Given the description of an element on the screen output the (x, y) to click on. 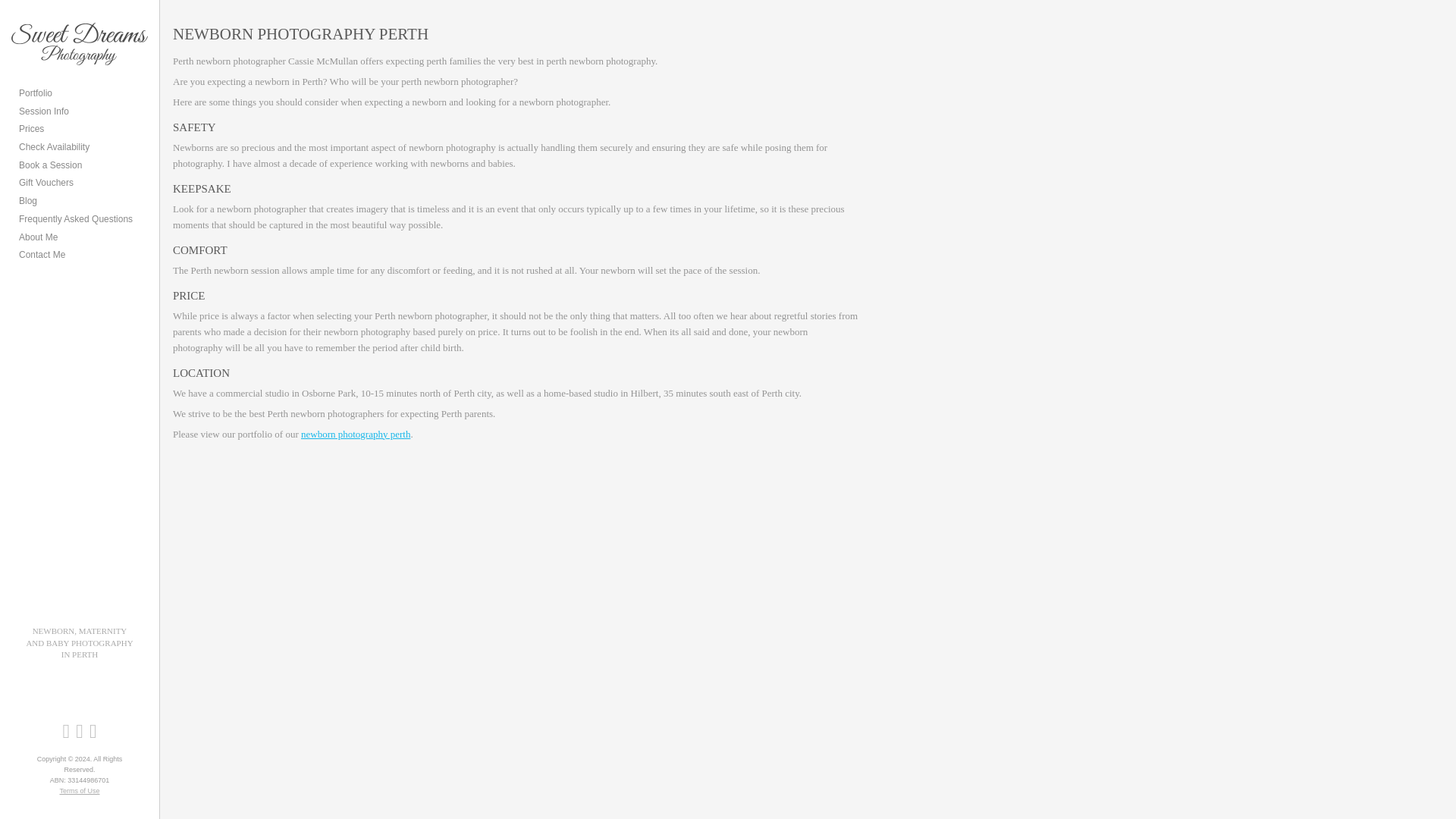
About Me (38, 237)
Frequently Asked Questions (75, 219)
Blog (27, 201)
Book a Session (49, 165)
Prices (30, 129)
Home (355, 433)
Contact Me (41, 255)
newborn photography perth (355, 433)
Session Info (43, 111)
Portfolio (35, 93)
Check Availability (53, 147)
Gift Vouchers (46, 183)
